Given the description of an element on the screen output the (x, y) to click on. 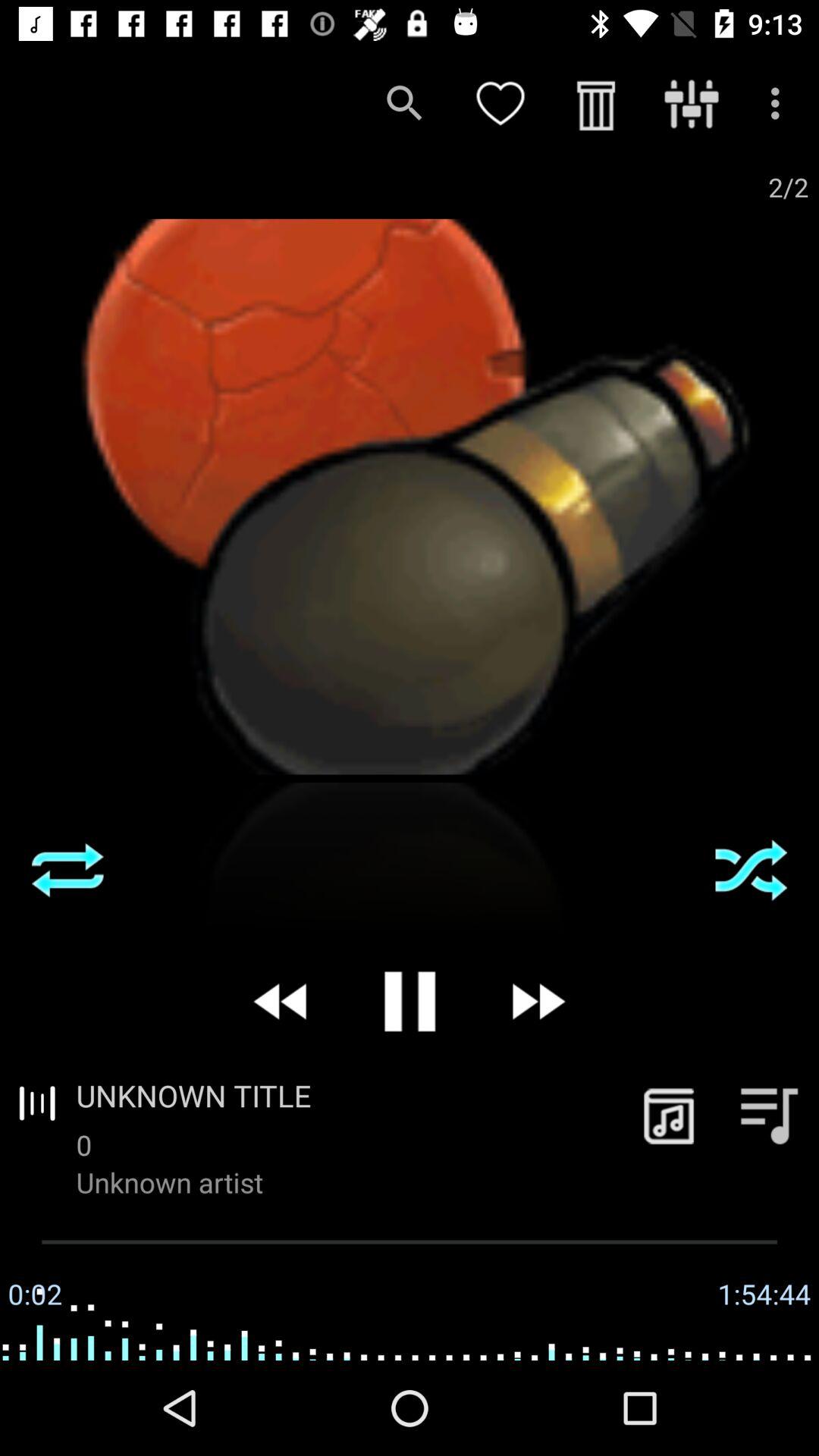
shuffle songs (67, 869)
